Given the description of an element on the screen output the (x, y) to click on. 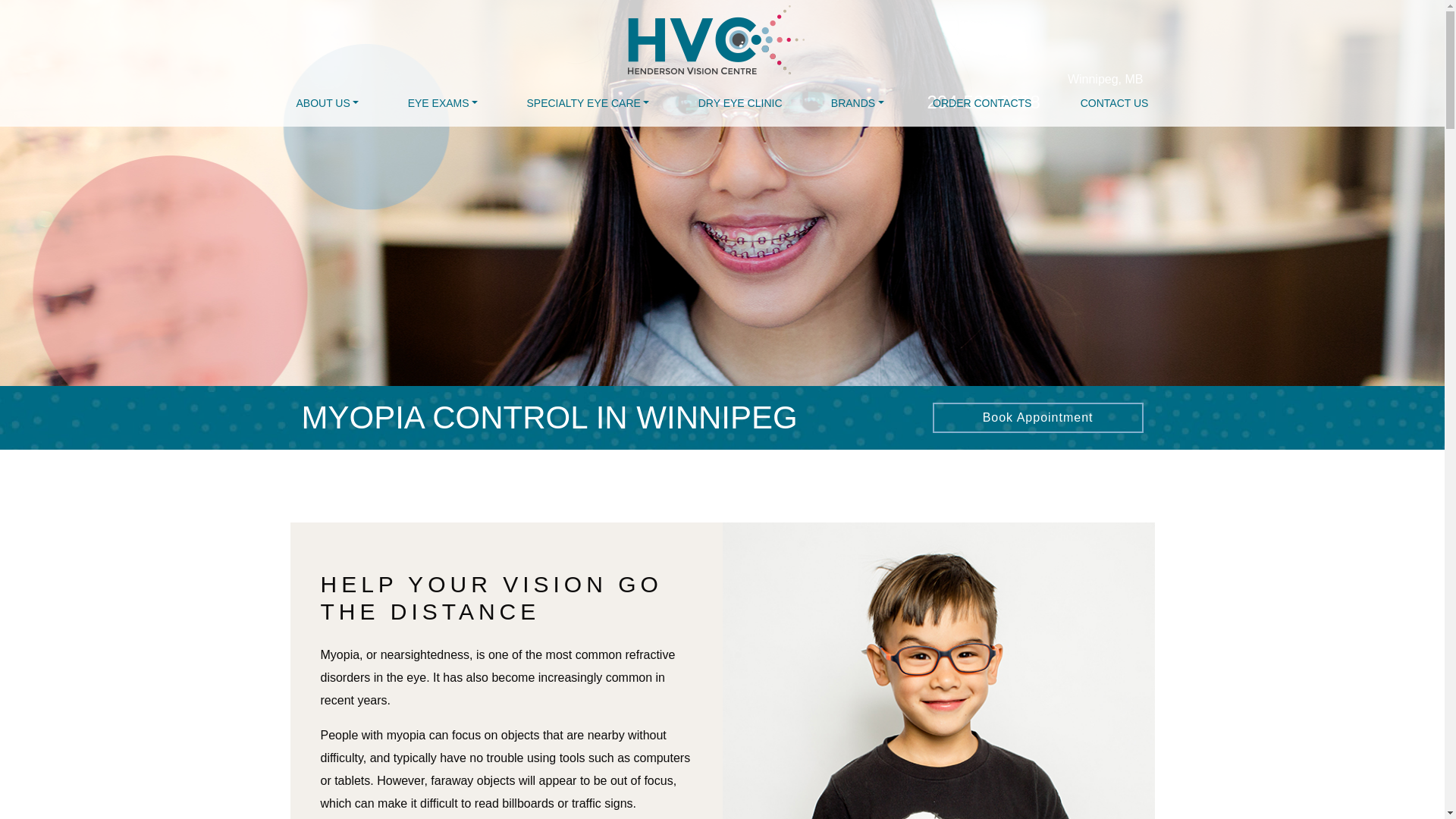
Brands (857, 102)
CONTACT US (1114, 102)
ORDER CONTACTS (981, 102)
BRANDS (857, 102)
SPECIALTY EYE CARE (587, 102)
Book Appointment (1037, 417)
EYE EXAMS (442, 102)
Dry Eye Clinic (741, 102)
About Us (327, 102)
Eye Exams (442, 102)
Specialty Eye Care (587, 102)
ABOUT US (327, 102)
204-582-2308 (982, 101)
DRY EYE CLINIC (741, 102)
